Given the description of an element on the screen output the (x, y) to click on. 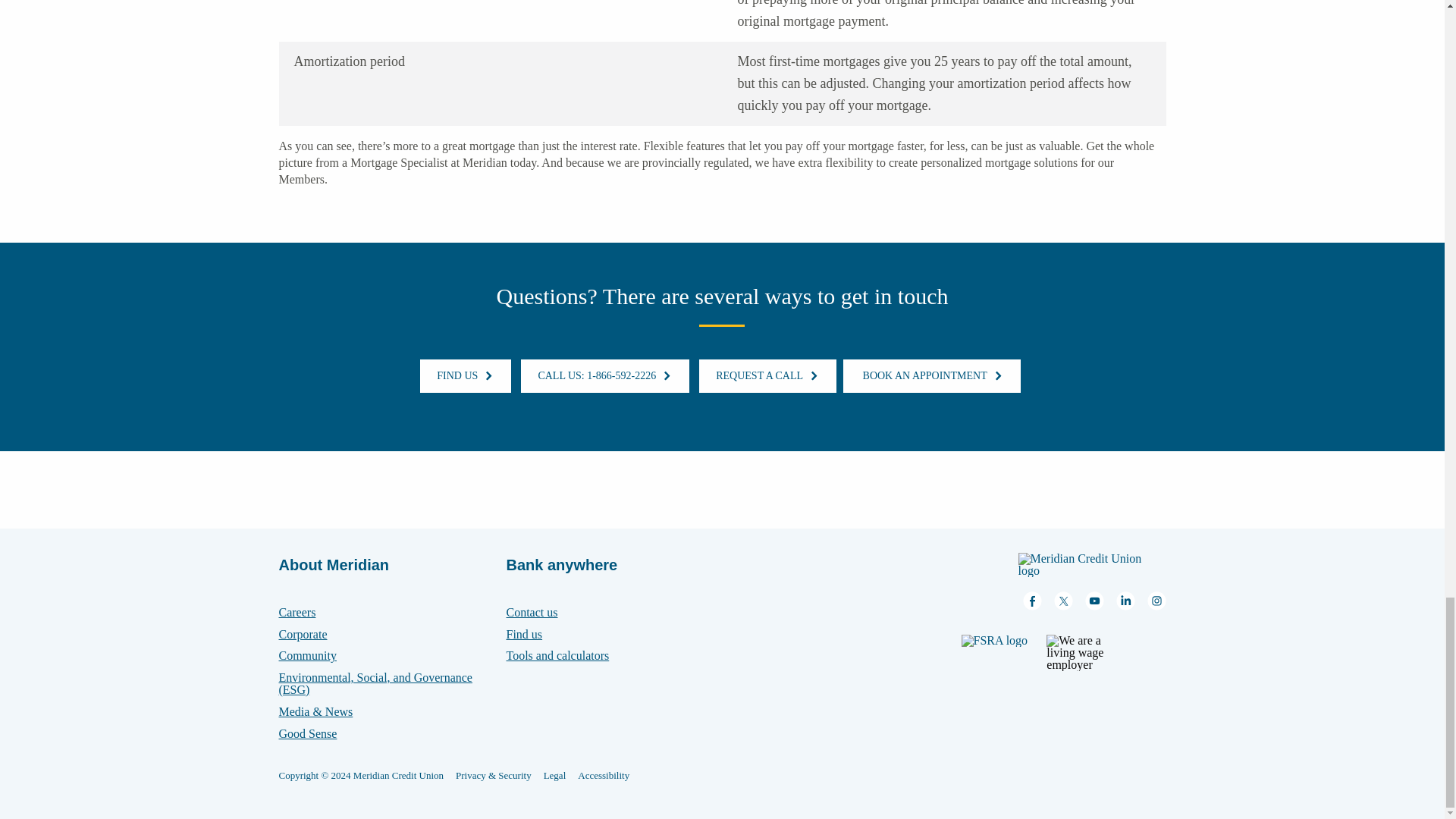
Meridian Credit Union (1091, 564)
instagram social (1156, 600)
linkedin social (1125, 600)
FSRA logo (998, 652)
twitter social (1063, 600)
facebook social (1031, 600)
youtube social (1093, 600)
